Given the description of an element on the screen output the (x, y) to click on. 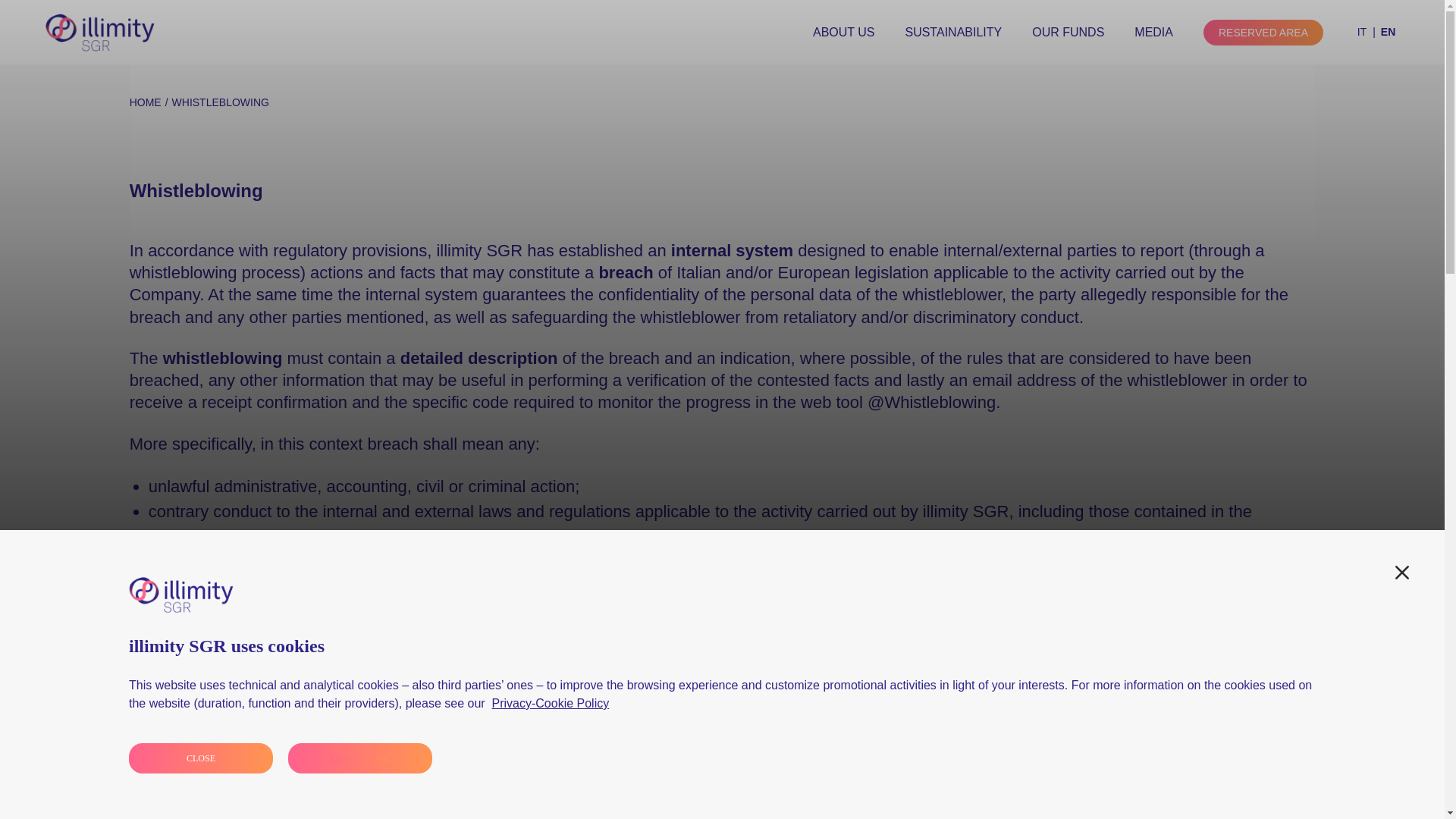
MEDIA (1153, 31)
SUSTAINABILITY (952, 31)
ABOUT US (843, 31)
CLOSE (201, 757)
IT (1365, 32)
OUR FUNDS (1067, 31)
RESERVED AREA (1263, 32)
LEARN MORE (360, 757)
HOME (145, 102)
Privacy-Cookie Policy (550, 703)
EN (1384, 32)
